Given the description of an element on the screen output the (x, y) to click on. 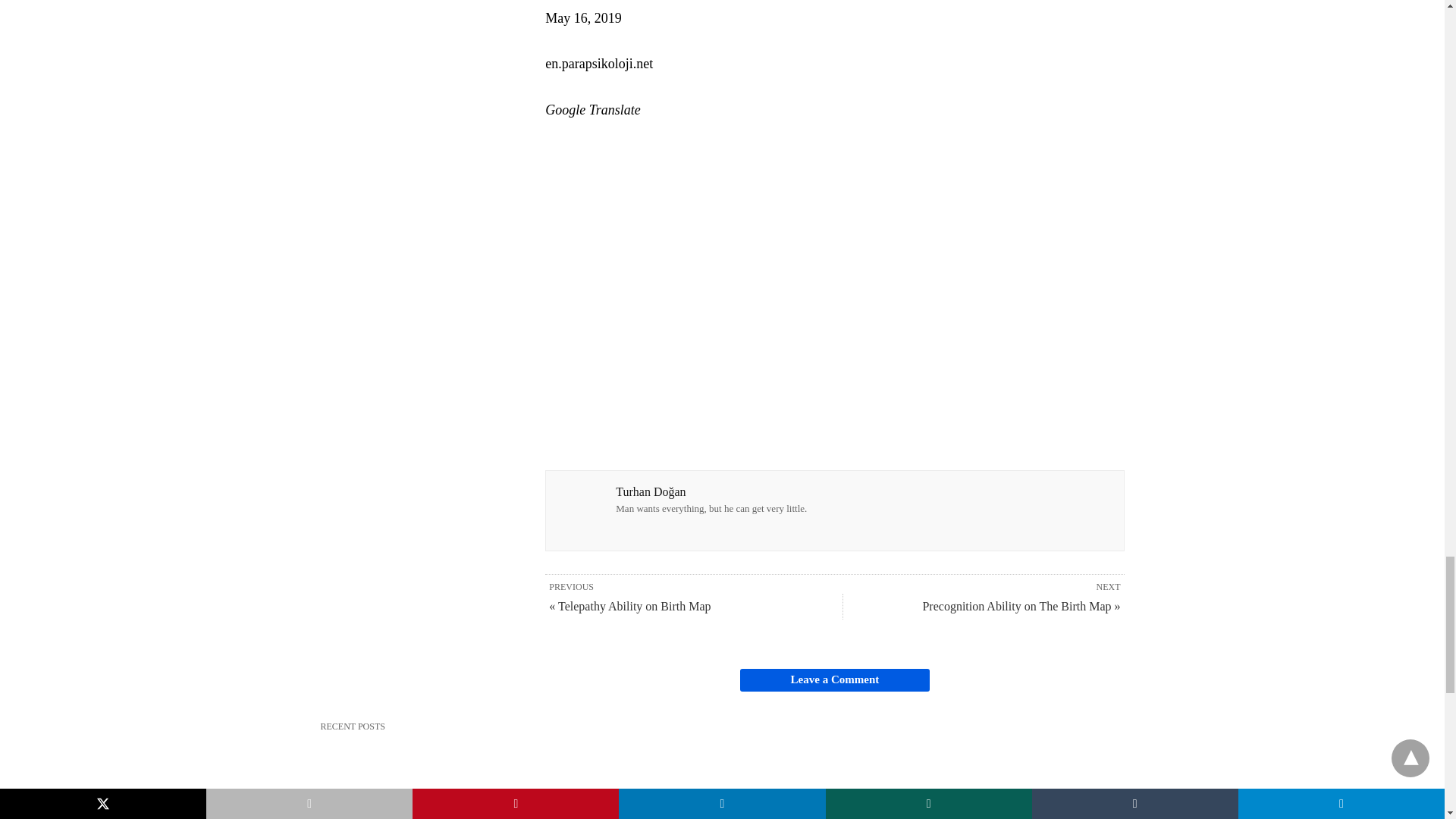
Leave a Comment (834, 680)
Leave a Comment (834, 680)
